Given the description of an element on the screen output the (x, y) to click on. 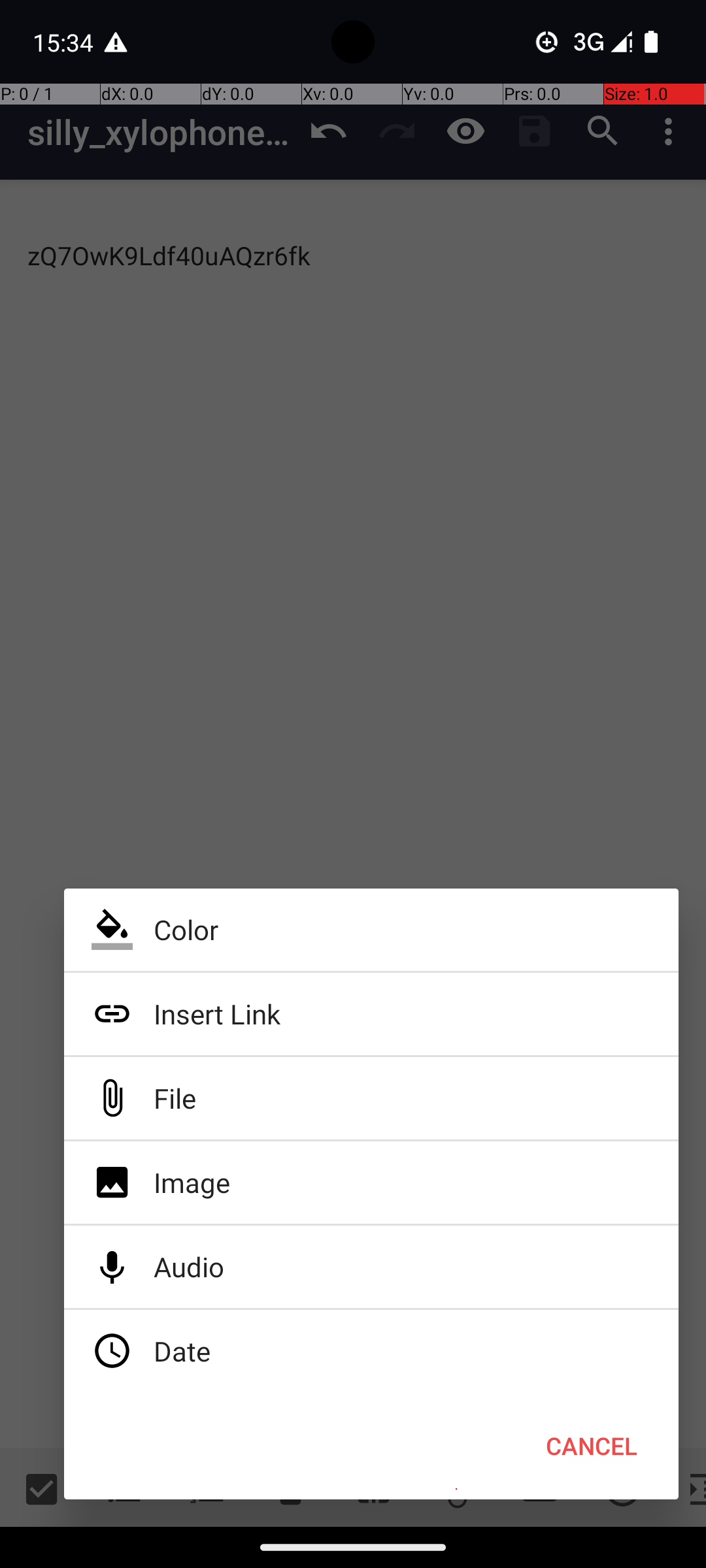
Color Element type: android.widget.TextView (371, 929)
Insert Link Element type: android.widget.TextView (371, 1013)
File Element type: android.widget.TextView (371, 1098)
Image Element type: android.widget.TextView (371, 1182)
